Given the description of an element on the screen output the (x, y) to click on. 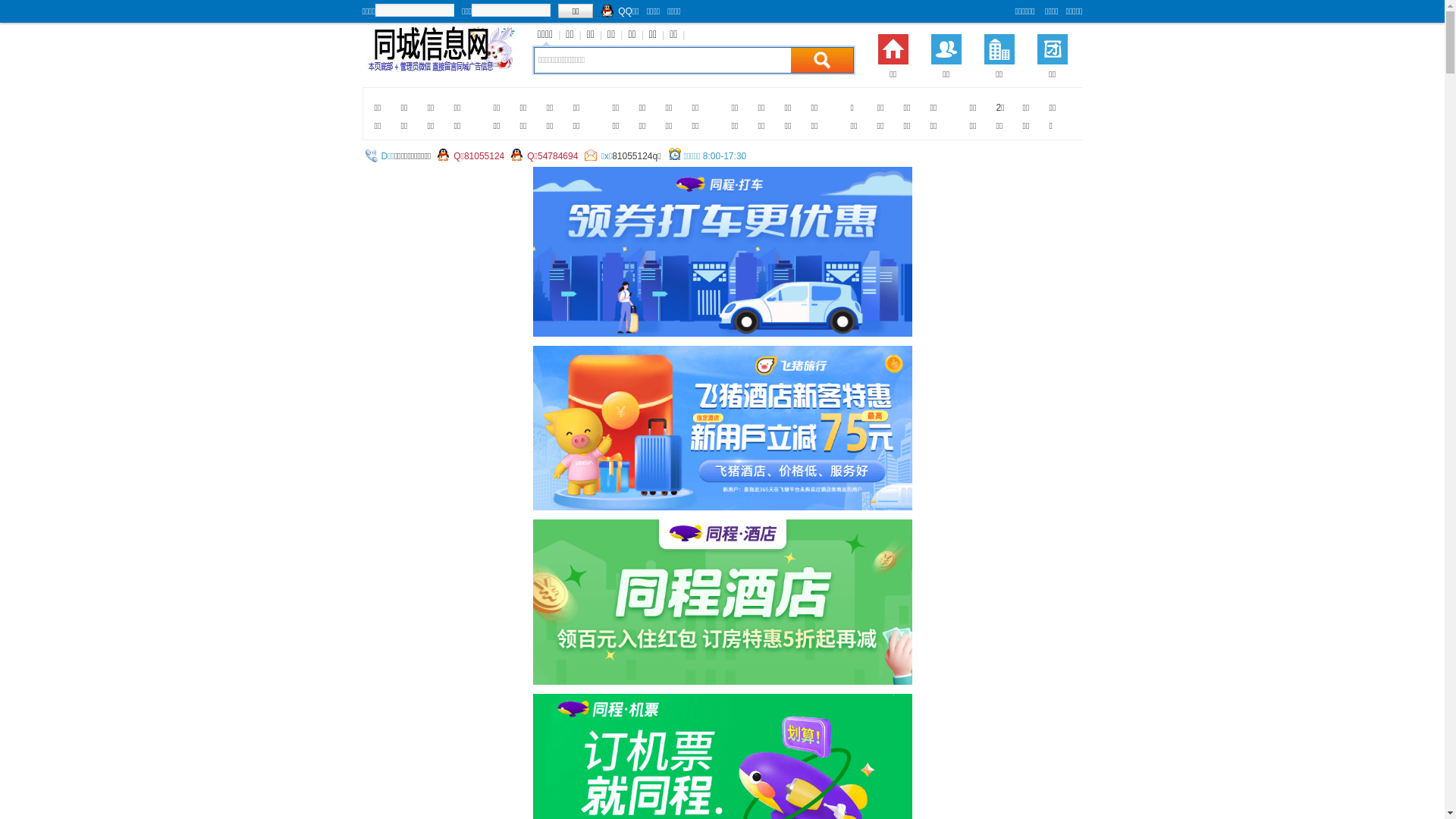
54784694 Element type: text (557, 155)
81055124 Element type: text (484, 155)
